Given the description of an element on the screen output the (x, y) to click on. 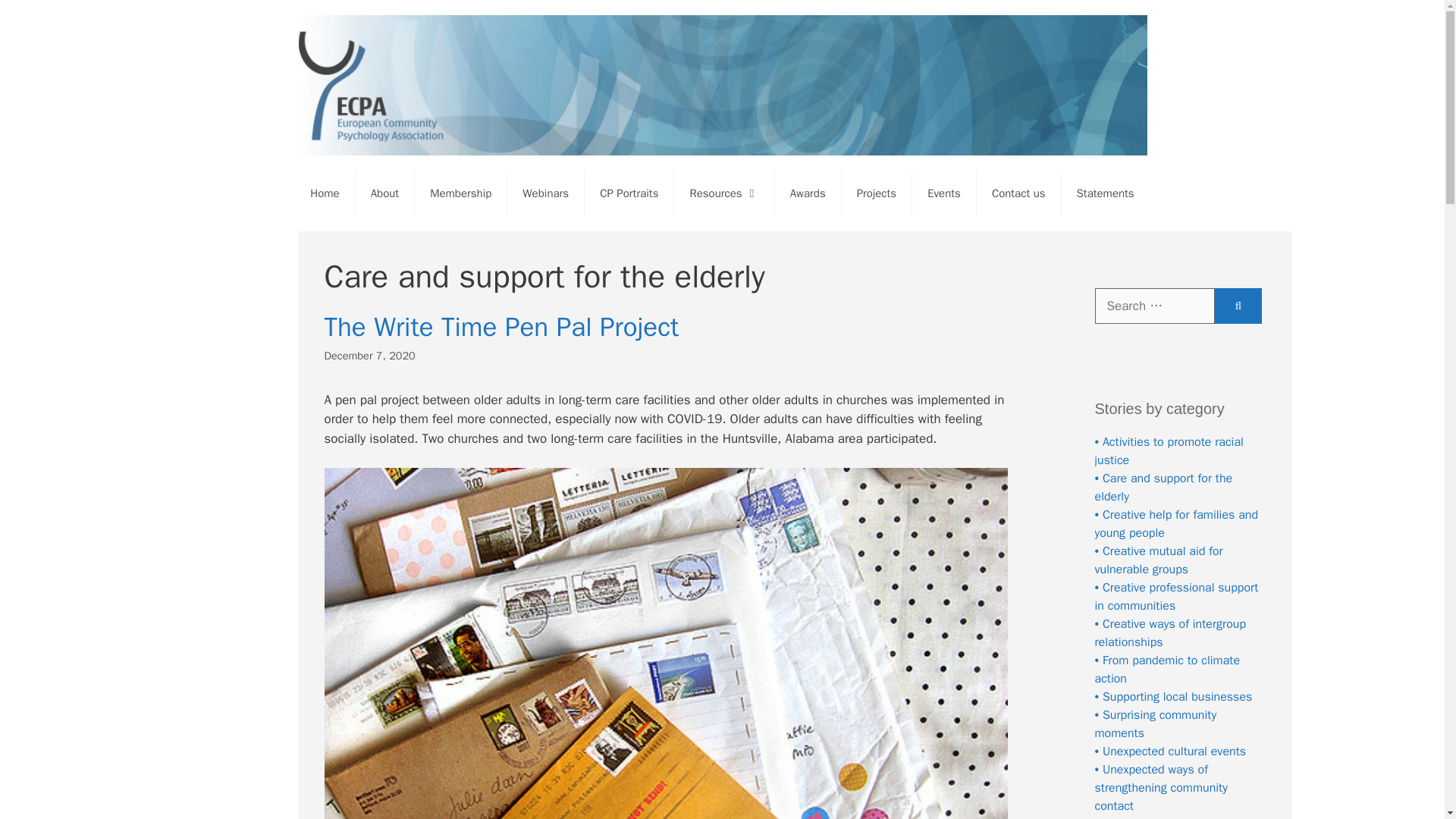
About (384, 193)
Statements (1105, 193)
Home (324, 193)
Webinars (544, 193)
The Write Time Pen Pal Project (501, 326)
Projects (876, 193)
Contact us (1018, 193)
Membership (460, 193)
Events (943, 193)
Resources (723, 193)
